Given the description of an element on the screen output the (x, y) to click on. 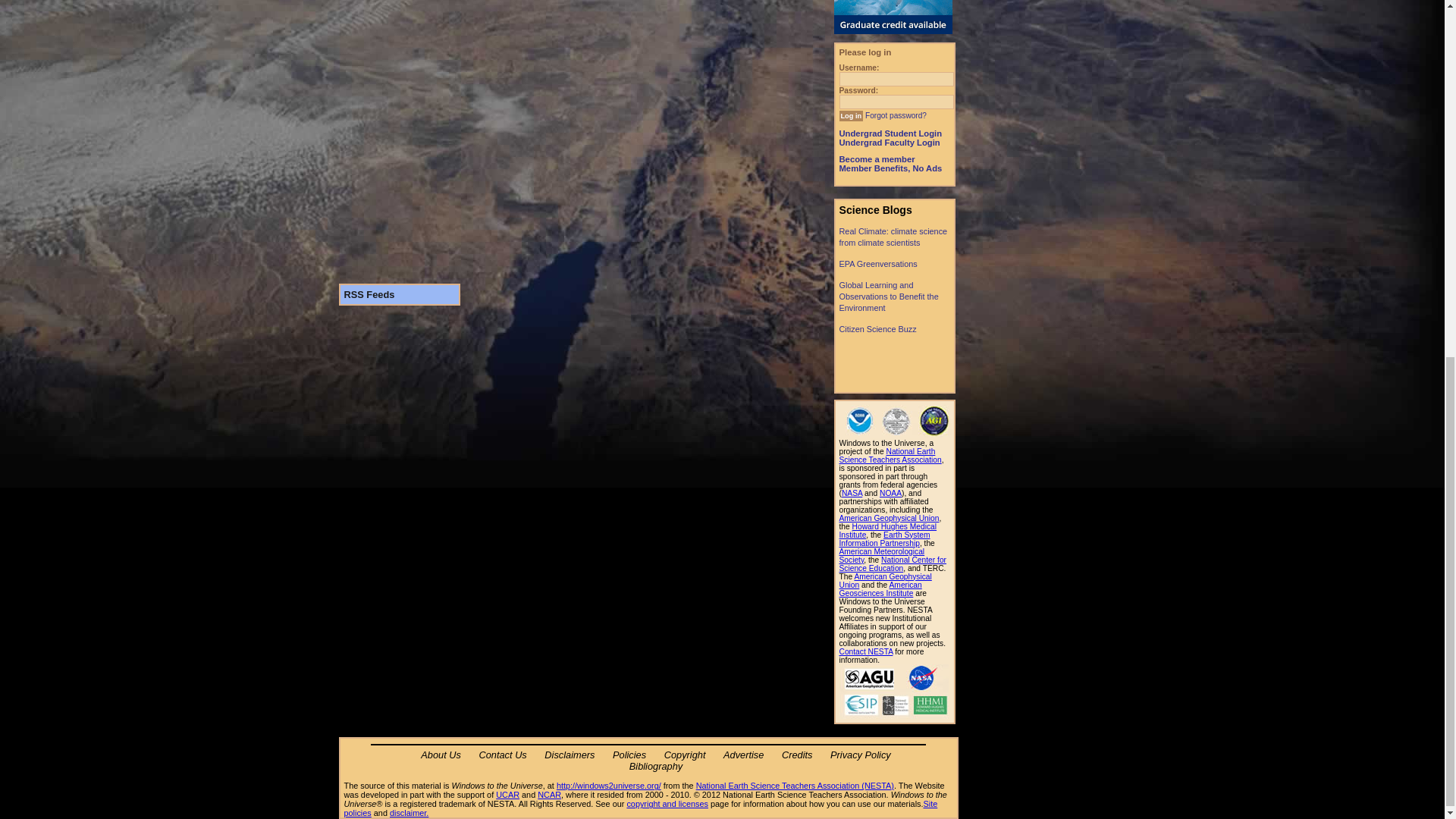
Log in (850, 115)
